Given the description of an element on the screen output the (x, y) to click on. 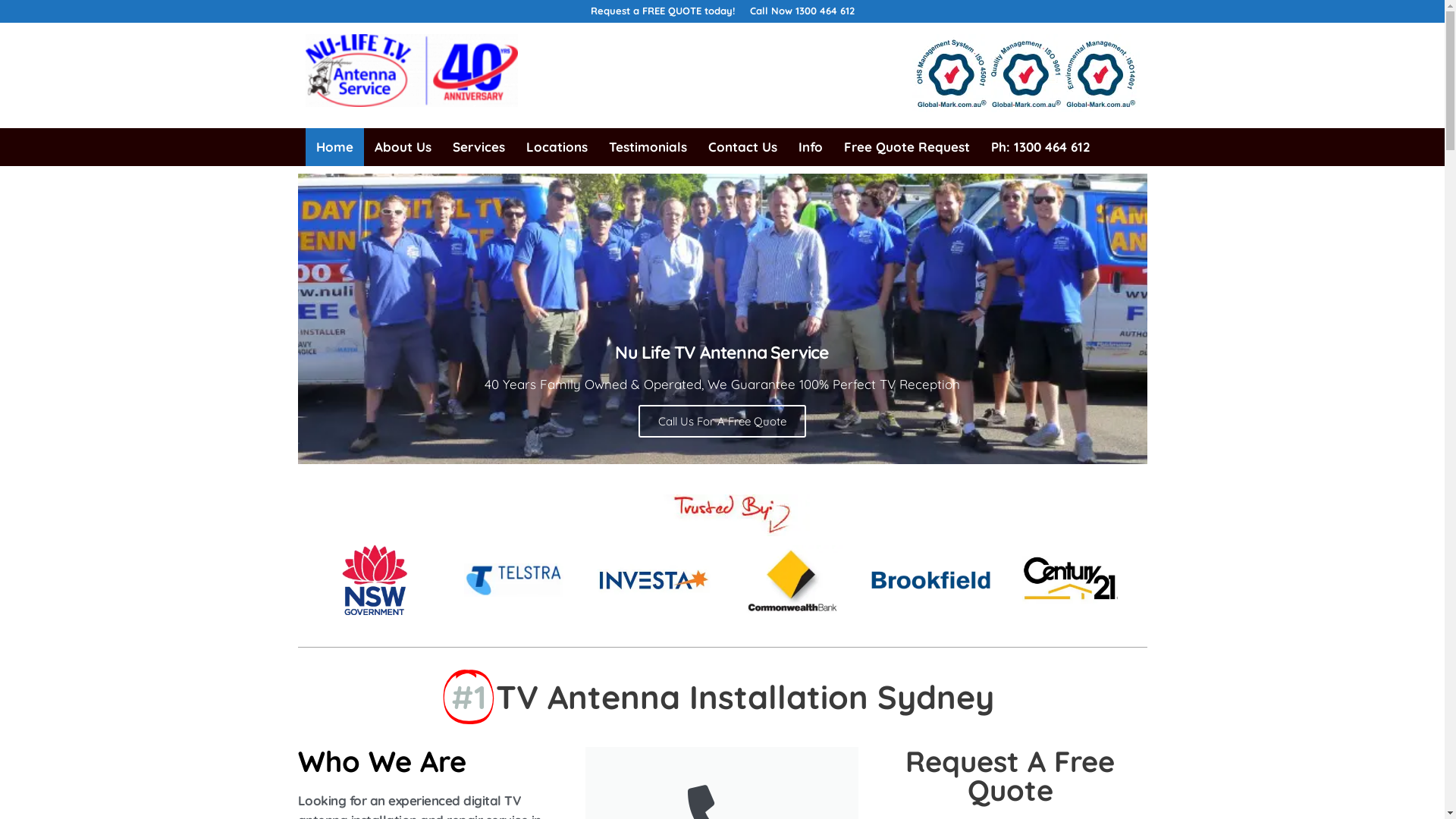
Request a FREE QUOTE today! Element type: text (661, 10)
Call Now 1300 464 612 Element type: text (801, 10)
Ph: 1300 464 612 Element type: text (1039, 147)
Info Element type: text (809, 147)
Contact Us Element type: text (742, 147)
Home Element type: text (333, 147)
Call Us For A Free Quote Element type: text (722, 420)
Locations Element type: text (556, 147)
Services Element type: text (477, 147)
About Us Element type: text (403, 147)
Testimonials Element type: text (646, 147)
Free Quote Request Element type: text (905, 147)
